Given the description of an element on the screen output the (x, y) to click on. 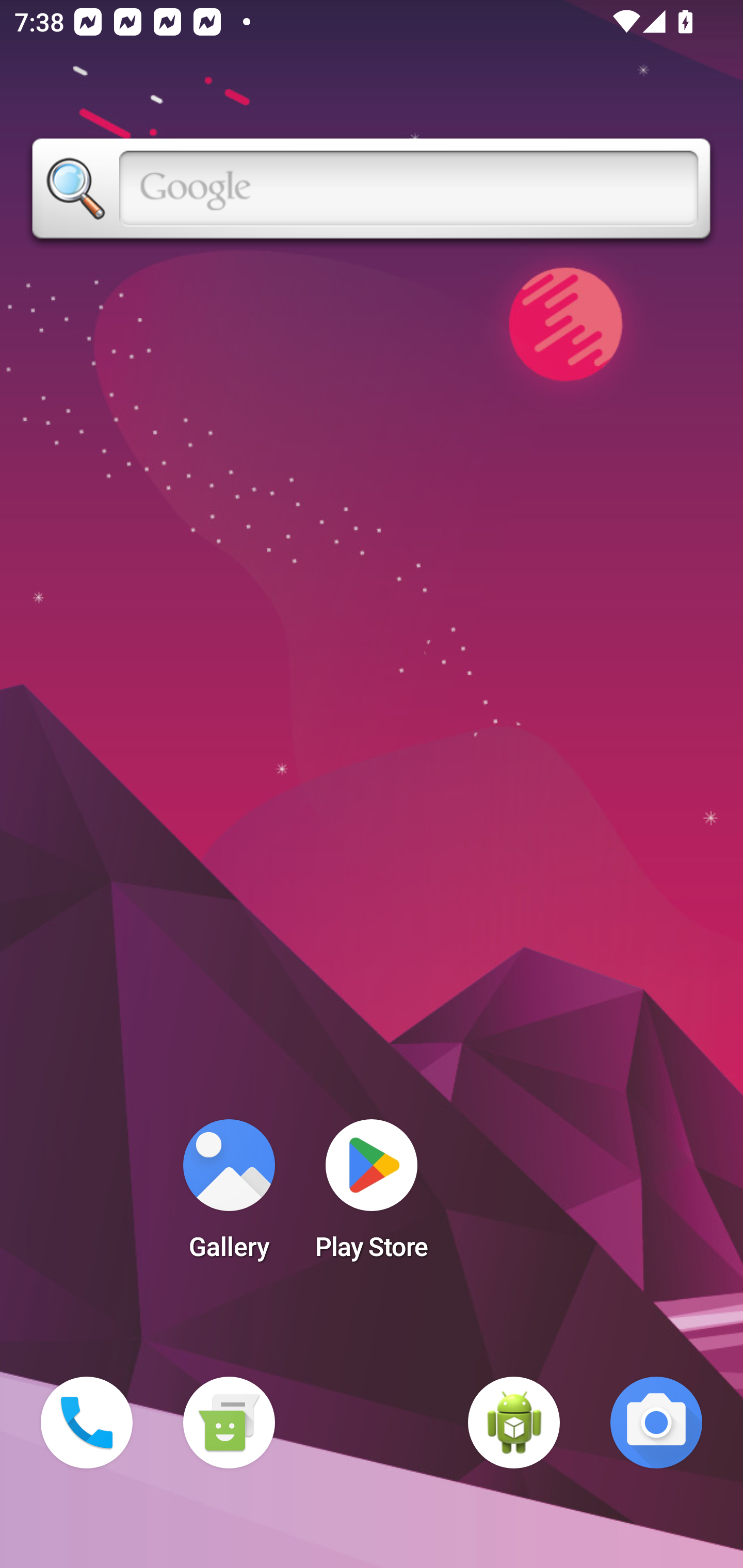
Gallery (228, 1195)
Play Store (371, 1195)
Phone (86, 1422)
Messaging (228, 1422)
WebView Browser Tester (513, 1422)
Camera (656, 1422)
